Given the description of an element on the screen output the (x, y) to click on. 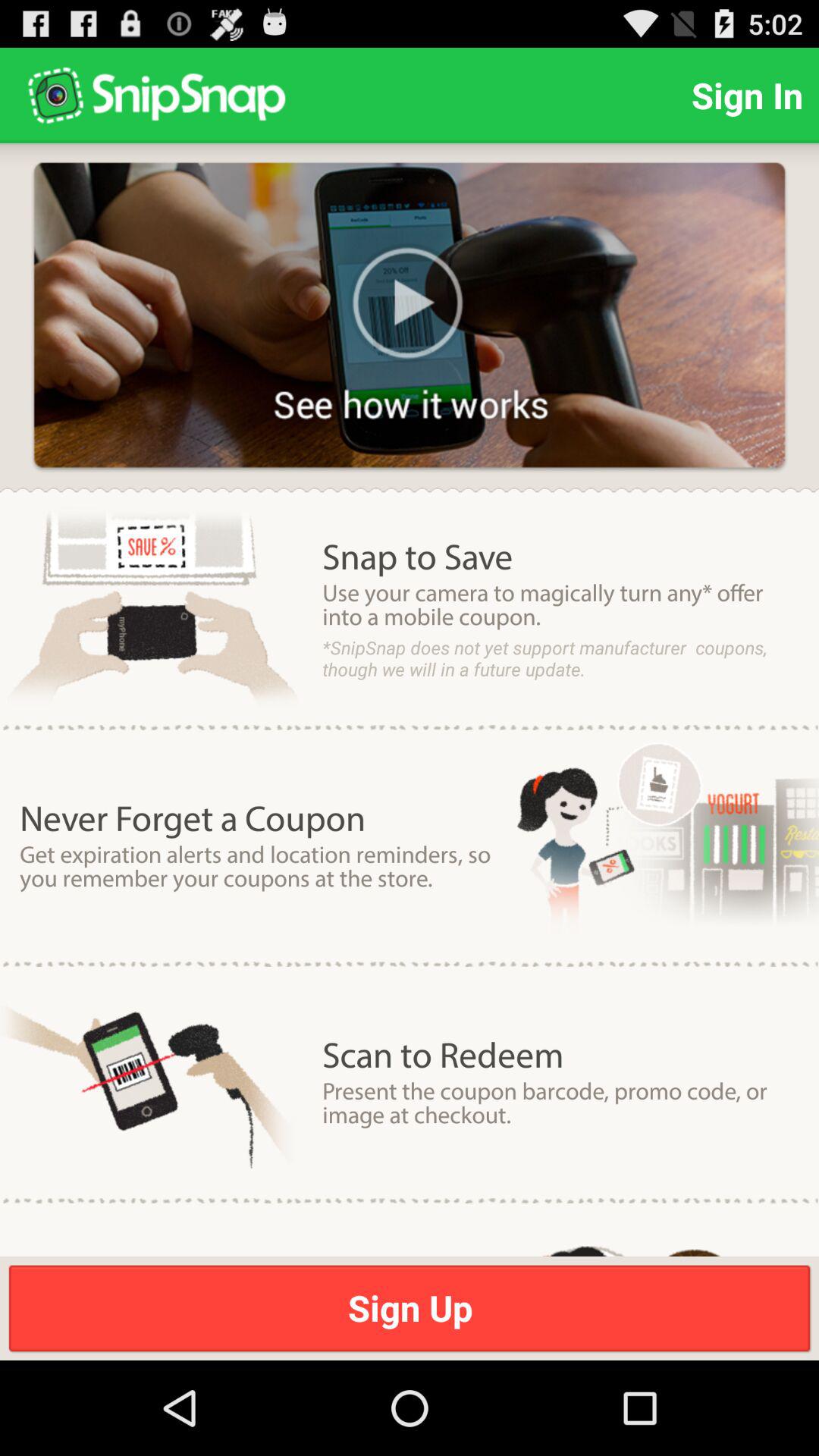
flip to sign in (747, 95)
